Given the description of an element on the screen output the (x, y) to click on. 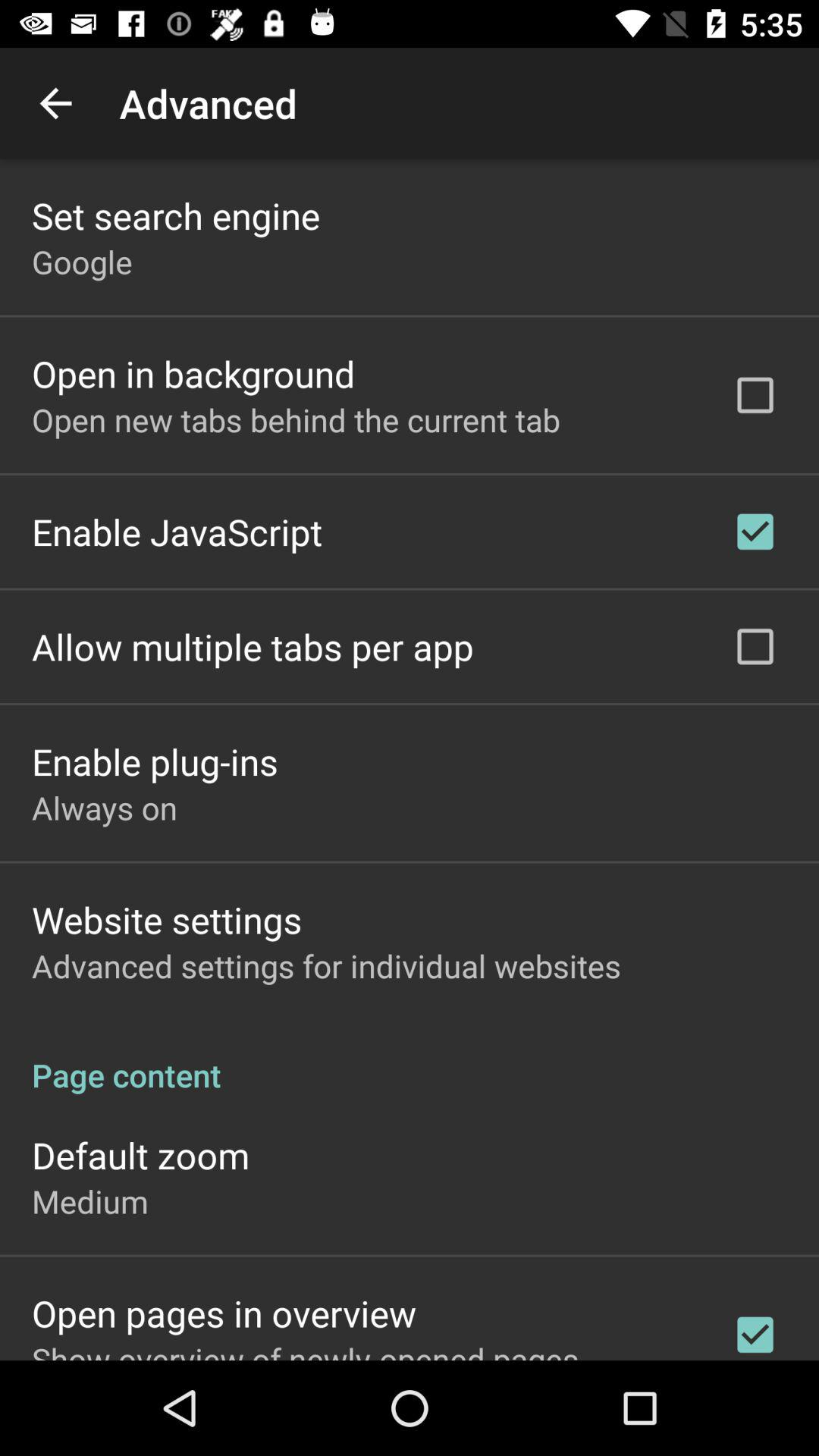
open app to the left of advanced app (55, 103)
